Given the description of an element on the screen output the (x, y) to click on. 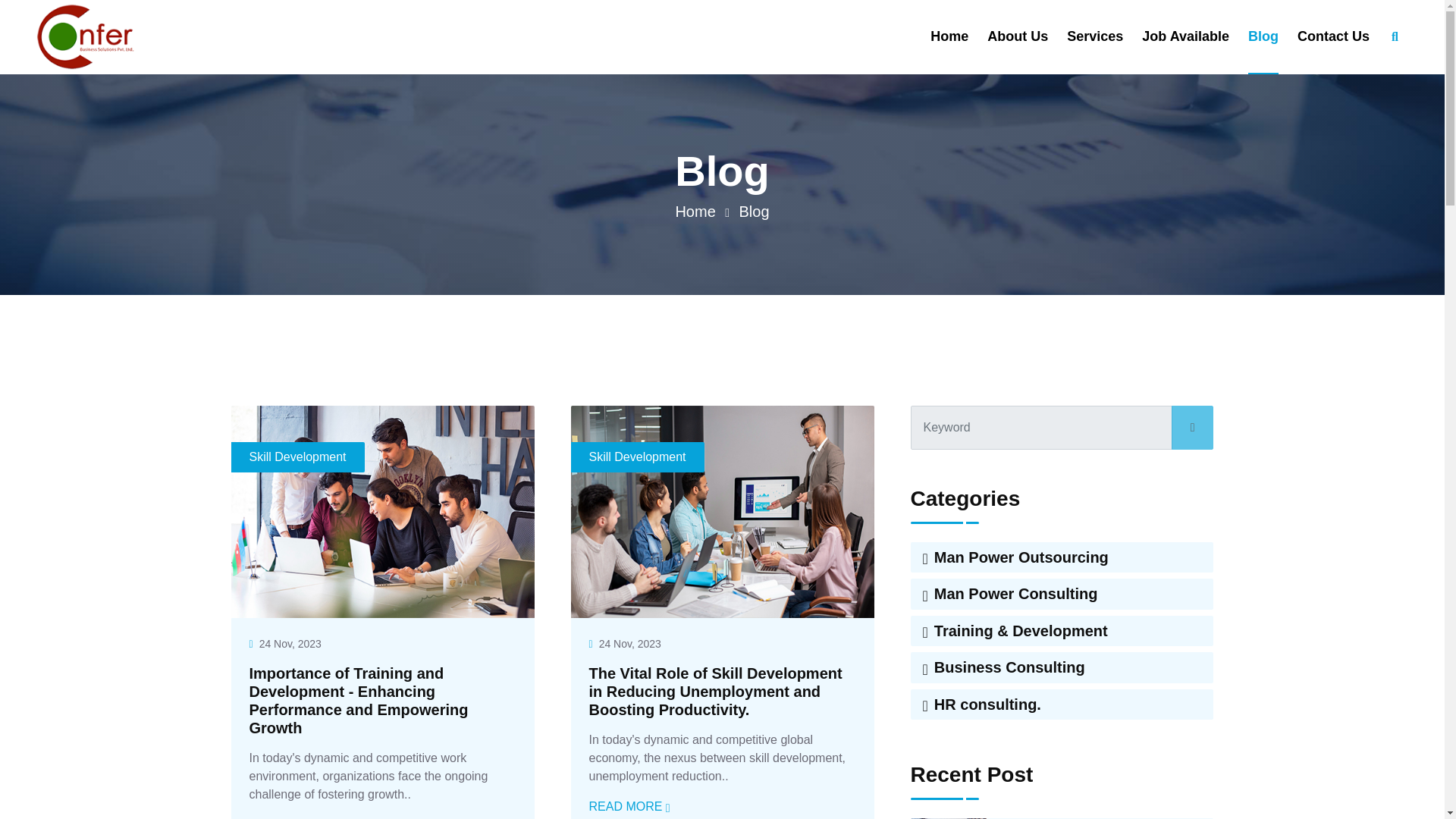
Blog (754, 211)
READ MORE (628, 806)
Skill Development (636, 457)
Job Available (1184, 36)
Home (694, 211)
Skill Development (297, 457)
Contact Us (1333, 36)
